Given the description of an element on the screen output the (x, y) to click on. 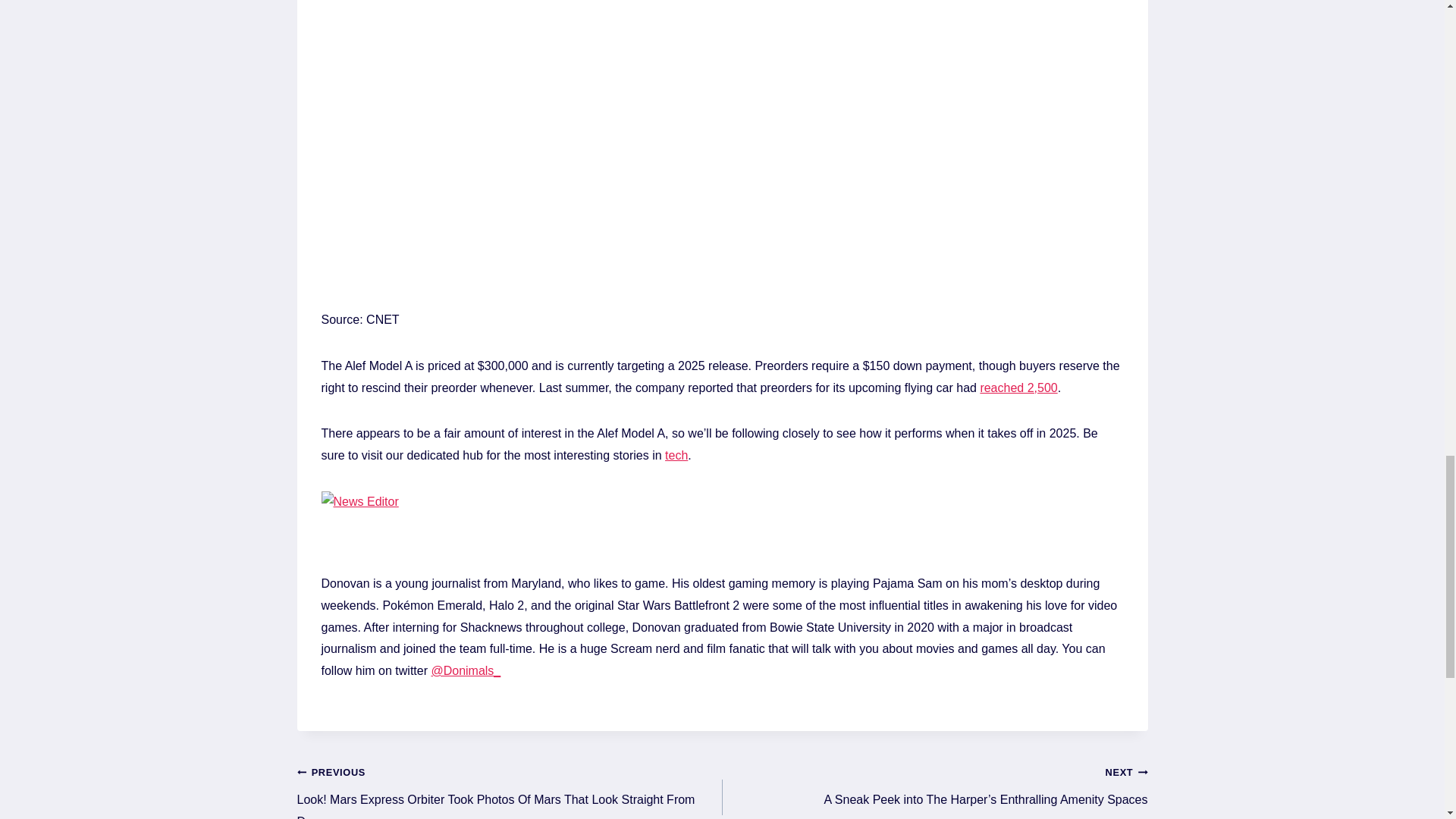
tech (676, 454)
reached 2,500 (1018, 387)
News Editor (362, 532)
